Given the description of an element on the screen output the (x, y) to click on. 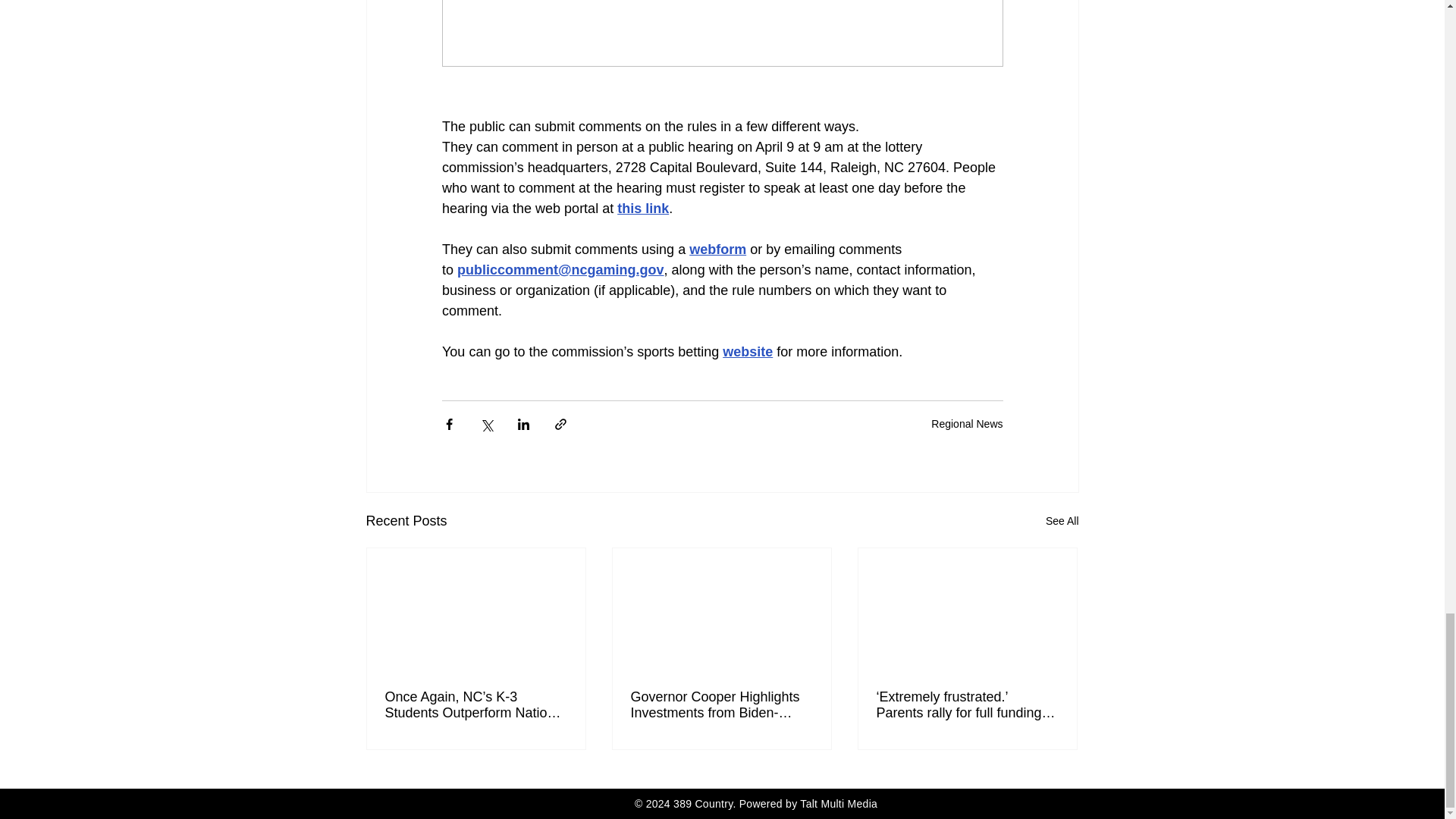
website (747, 351)
webform (716, 249)
this link (642, 208)
Regional News (967, 423)
